Given the description of an element on the screen output the (x, y) to click on. 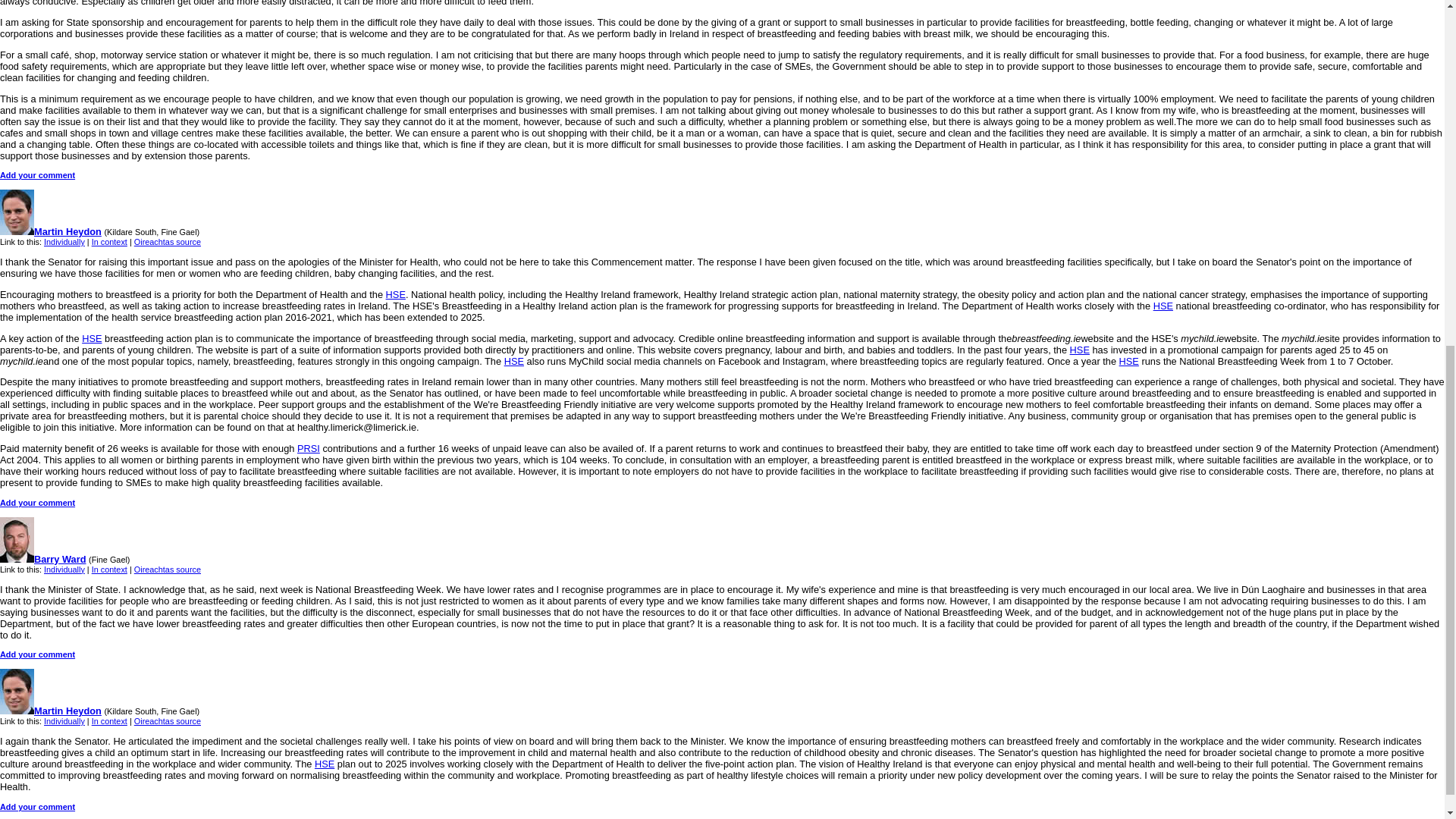
HSE (395, 294)
See more information about Martin Heydon (50, 231)
Oireachtas source (166, 241)
Add your comment (37, 174)
HSE (1163, 306)
In context (109, 241)
PRSI (308, 448)
Martin Heydon (50, 231)
HSE (1079, 349)
HSE (91, 337)
